Given the description of an element on the screen output the (x, y) to click on. 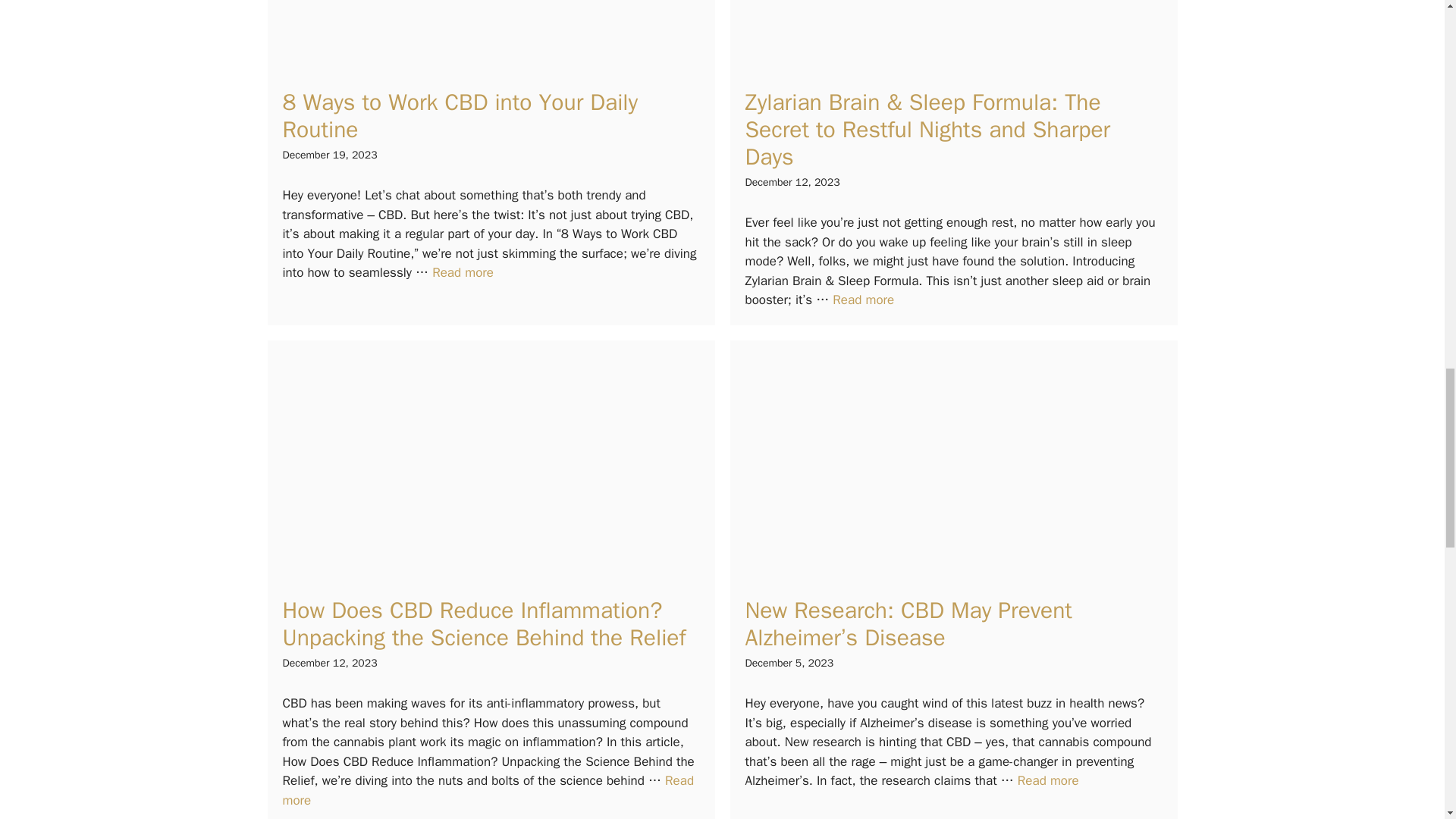
Read more (862, 299)
Read more (462, 272)
8 Ways to Work CBD into Your Daily Routine (459, 115)
Read more (488, 790)
8 Ways to Work CBD into Your Daily Routine (462, 272)
Read more (1047, 780)
